Given the description of an element on the screen output the (x, y) to click on. 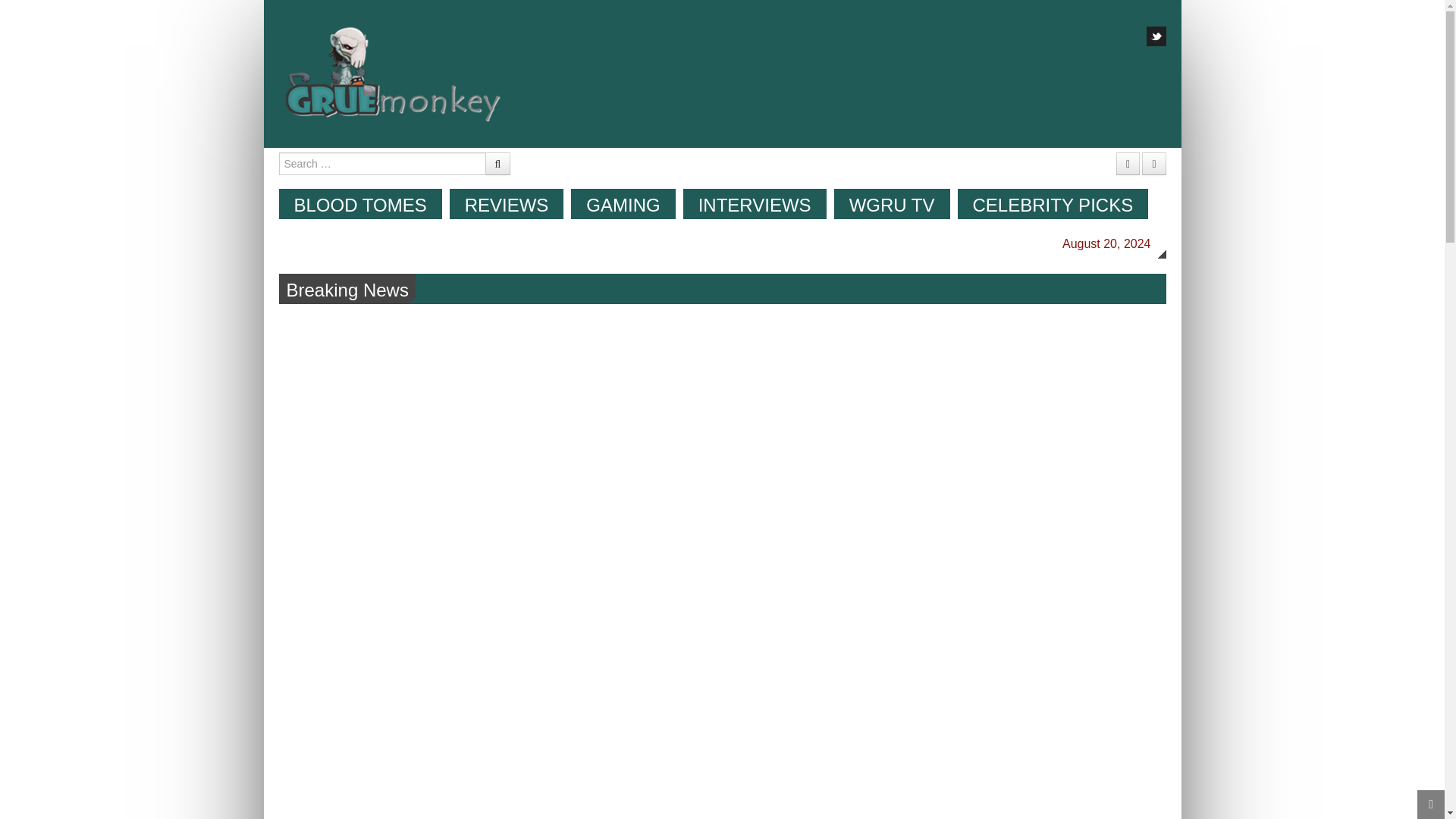
Register (1128, 163)
INTERVIEWS (754, 204)
Skip to content (376, 196)
Follow us on Twitter (1156, 35)
Search (318, 9)
August 20, 2024 (1106, 242)
REVIEWS (506, 204)
GAMING (622, 204)
BLOOD TOMES (360, 204)
SKIP TO CONTENT (376, 196)
